Given the description of an element on the screen output the (x, y) to click on. 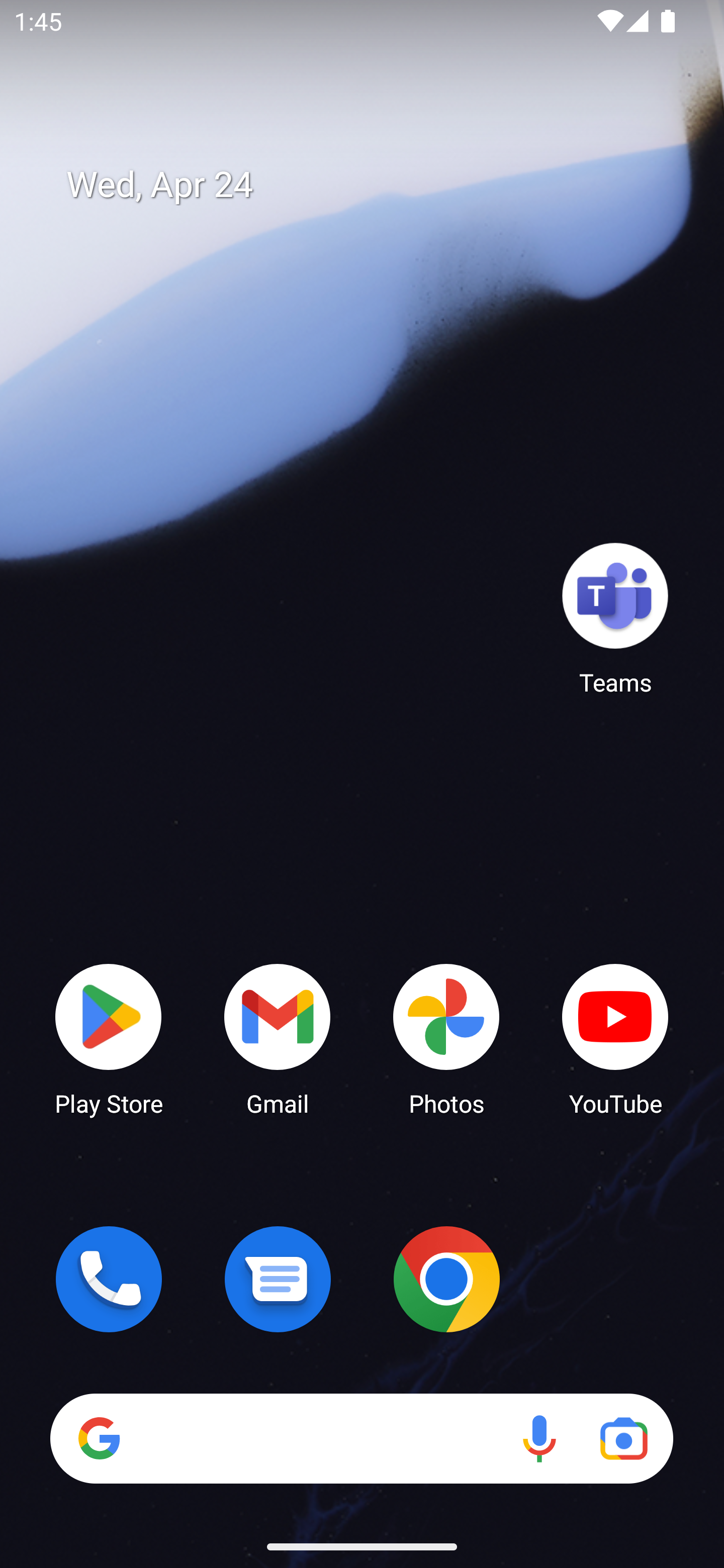
Wed, Apr 24 (375, 184)
Teams (615, 617)
Play Store (108, 1038)
Gmail (277, 1038)
Photos (445, 1038)
YouTube (615, 1038)
Phone (108, 1279)
Messages (277, 1279)
Chrome (446, 1279)
Search Voice search Google Lens (361, 1438)
Voice search (539, 1438)
Google Lens (623, 1438)
